Given the description of an element on the screen output the (x, y) to click on. 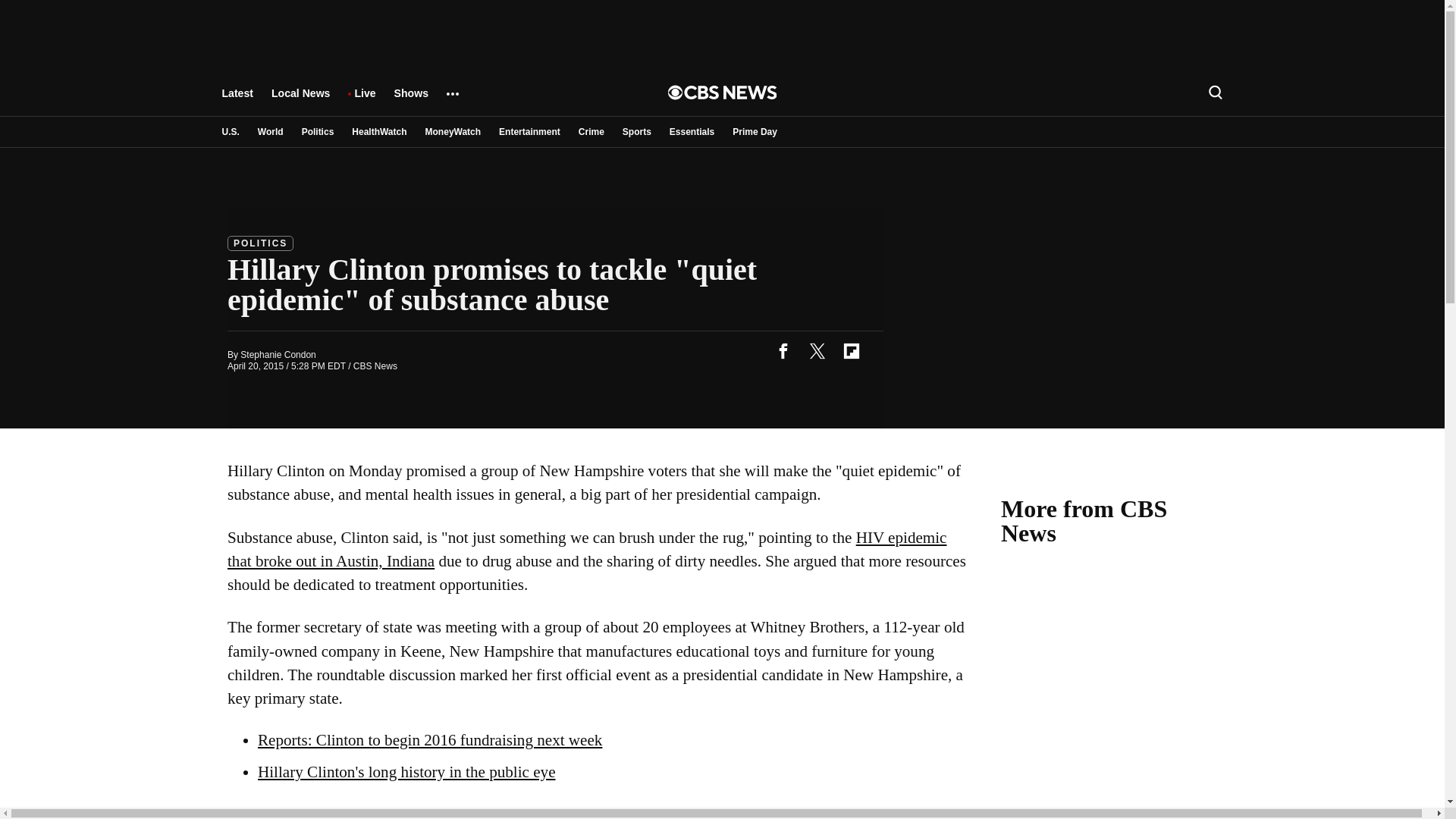
facebook (782, 350)
Local News (300, 100)
flipboard (850, 350)
twitter (816, 350)
Latest (236, 100)
